Given the description of an element on the screen output the (x, y) to click on. 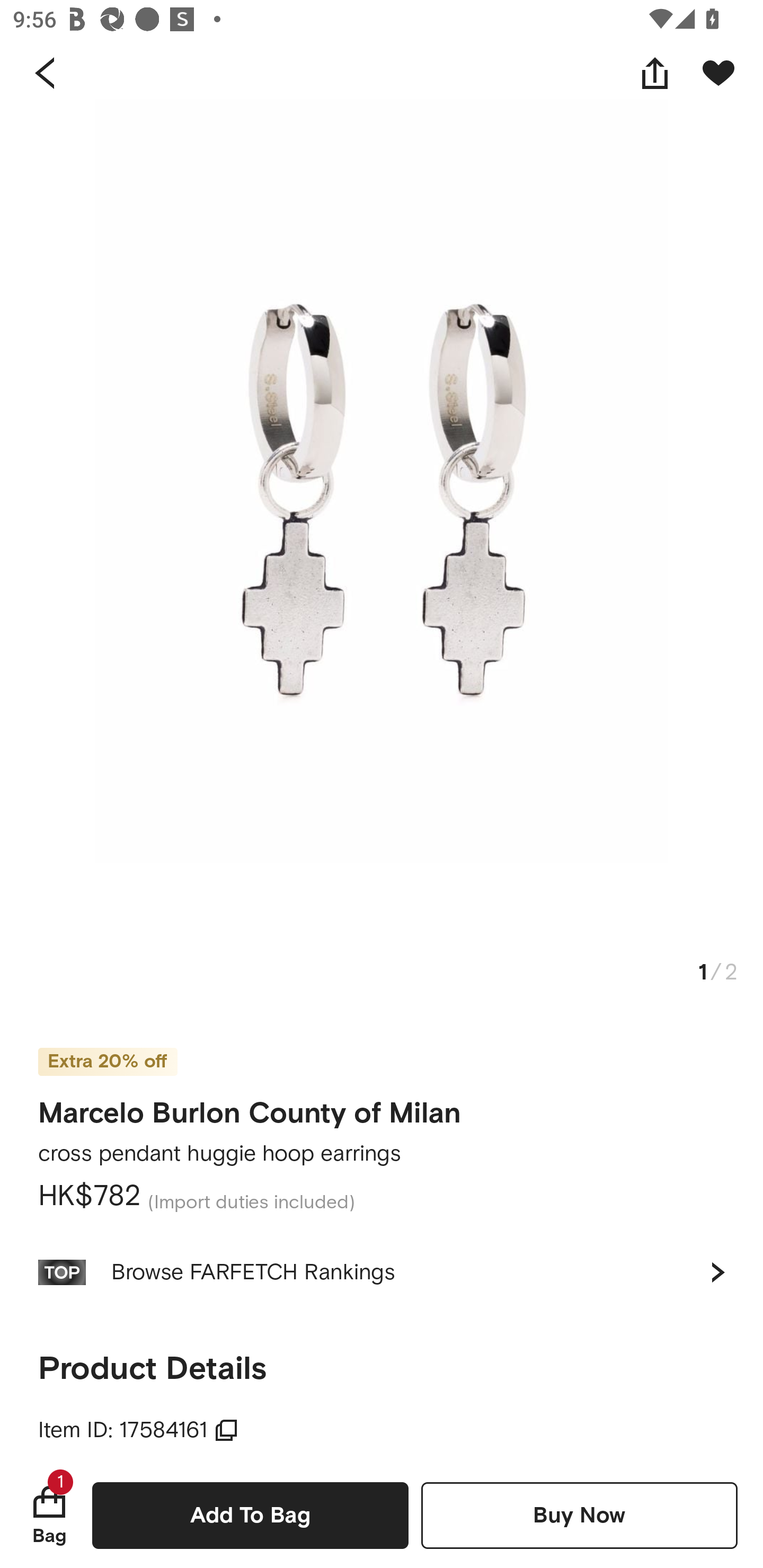
Extra 20% off (107, 1049)
Marcelo Burlon County of Milan (249, 1113)
Browse FARFETCH Rankings (381, 1272)
Item ID: 17584161 (138, 1430)
Bag 1 (49, 1515)
Add To Bag (250, 1515)
Buy Now (579, 1515)
